Given the description of an element on the screen output the (x, y) to click on. 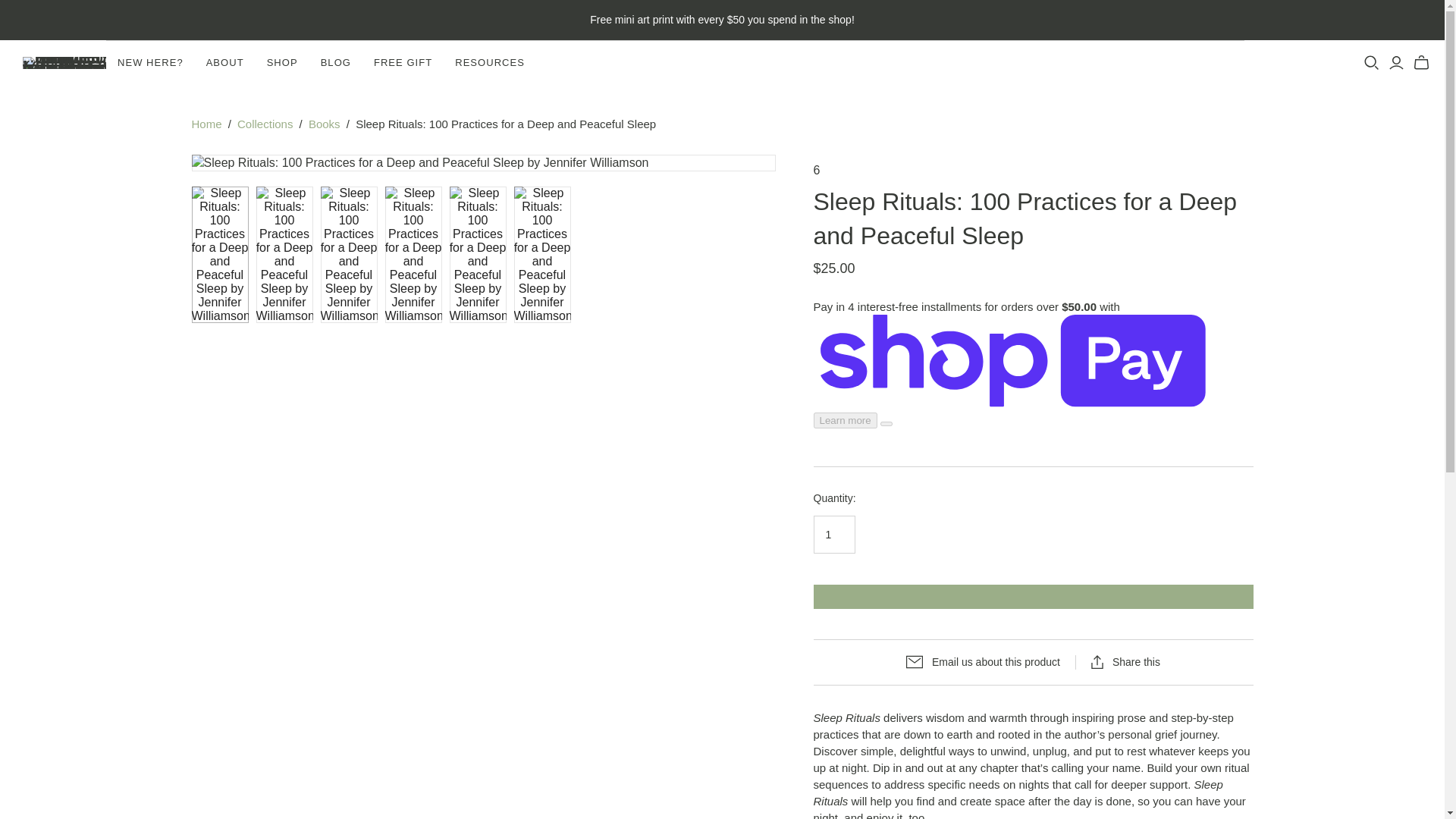
Home (205, 123)
SHOP (282, 63)
NEW HERE? (150, 63)
FREE GIFT (403, 63)
1 (833, 534)
Collections (264, 123)
Books (324, 123)
BLOG (335, 63)
ABOUT (225, 63)
RESOURCES (489, 63)
